Given the description of an element on the screen output the (x, y) to click on. 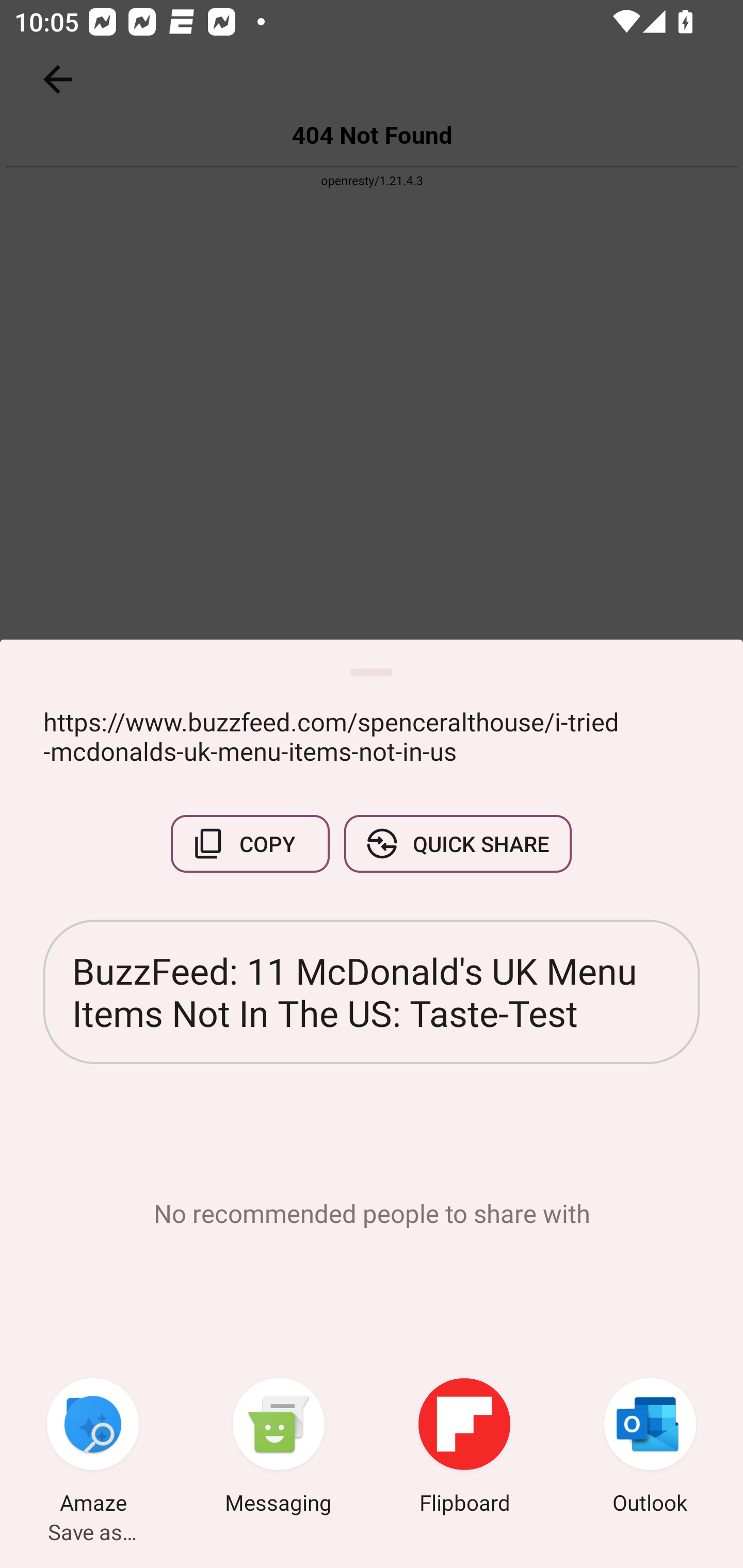
COPY (249, 844)
QUICK SHARE (457, 844)
Amaze Save as… (92, 1448)
Messaging (278, 1448)
Flipboard (464, 1448)
Outlook (650, 1448)
